Given the description of an element on the screen output the (x, y) to click on. 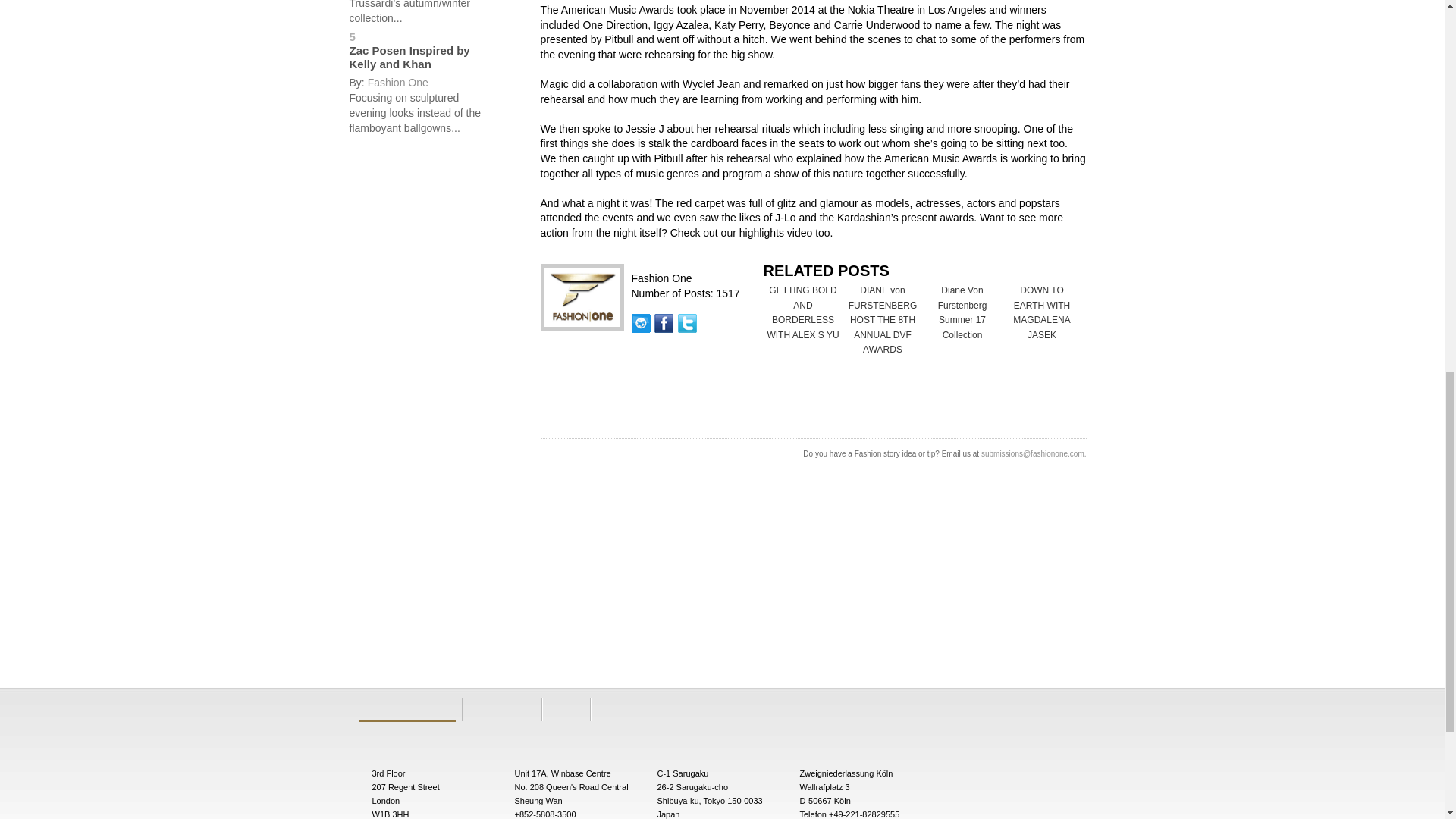
Website (641, 347)
Zac Posen Inspired by Kelly and Khan (408, 57)
Twitter (687, 347)
Fashion One (398, 82)
Facebook (665, 347)
